Given the description of an element on the screen output the (x, y) to click on. 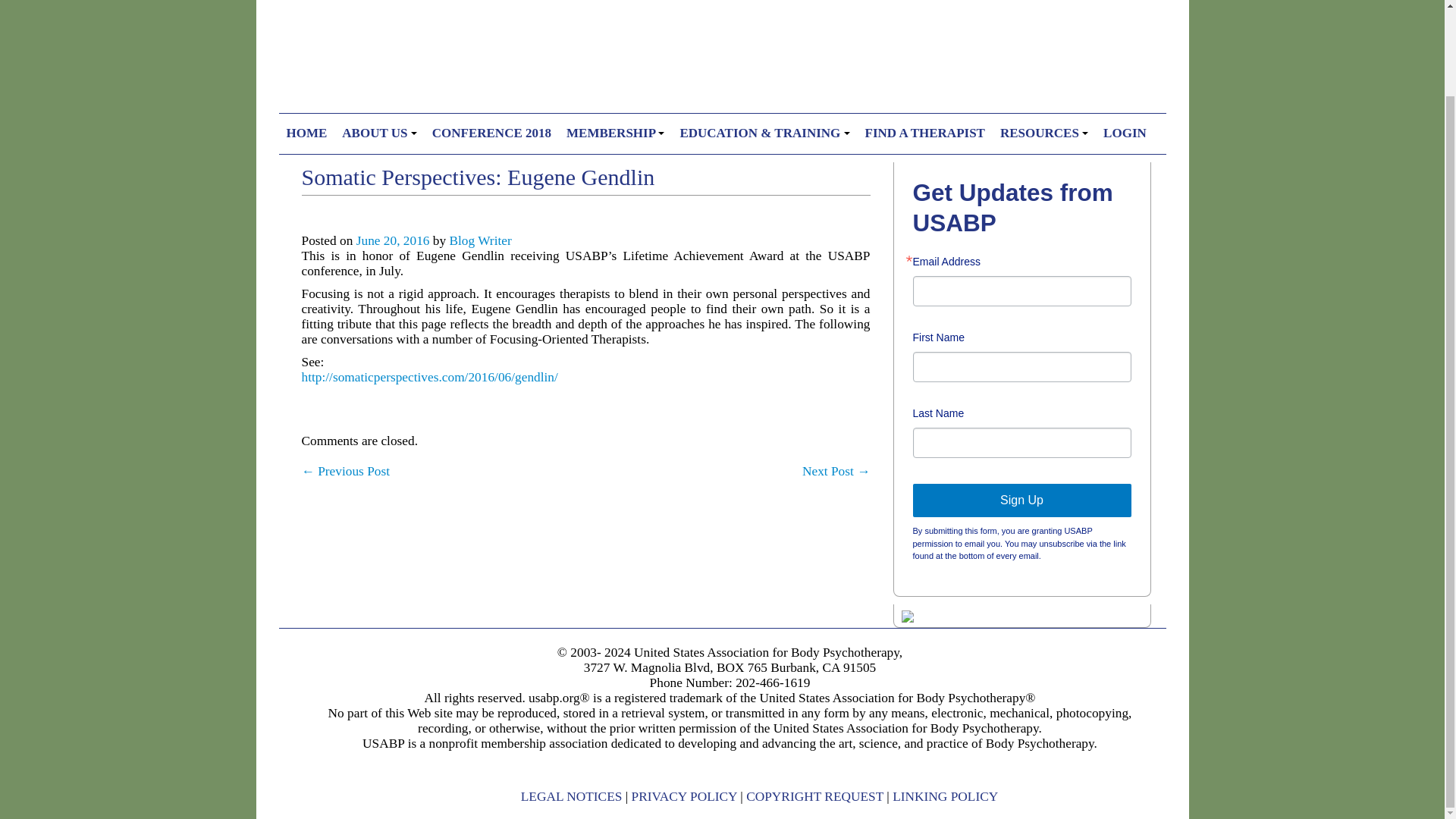
Skip to primary content (341, 120)
CONFERENCE 2018 (492, 133)
5:45 pm (392, 240)
Skip to primary content (341, 120)
United States Association for Body Psychotherapy (722, 49)
View all posts by Blog Writer (479, 240)
Skip to secondary content (346, 120)
Skip to secondary content (346, 120)
ABOUT US (378, 133)
MEMBERSHIP (615, 133)
